Given the description of an element on the screen output the (x, y) to click on. 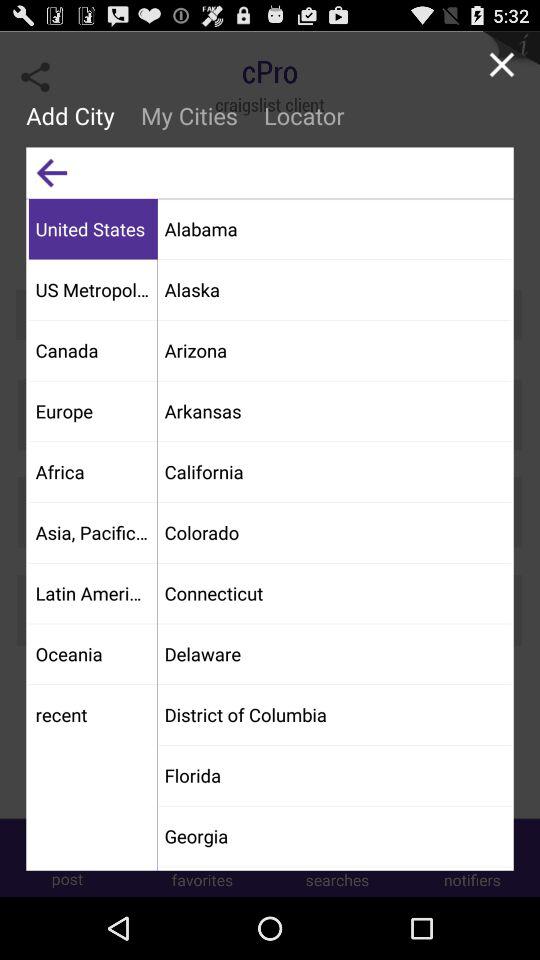
tap the my cities (188, 115)
